Given the description of an element on the screen output the (x, y) to click on. 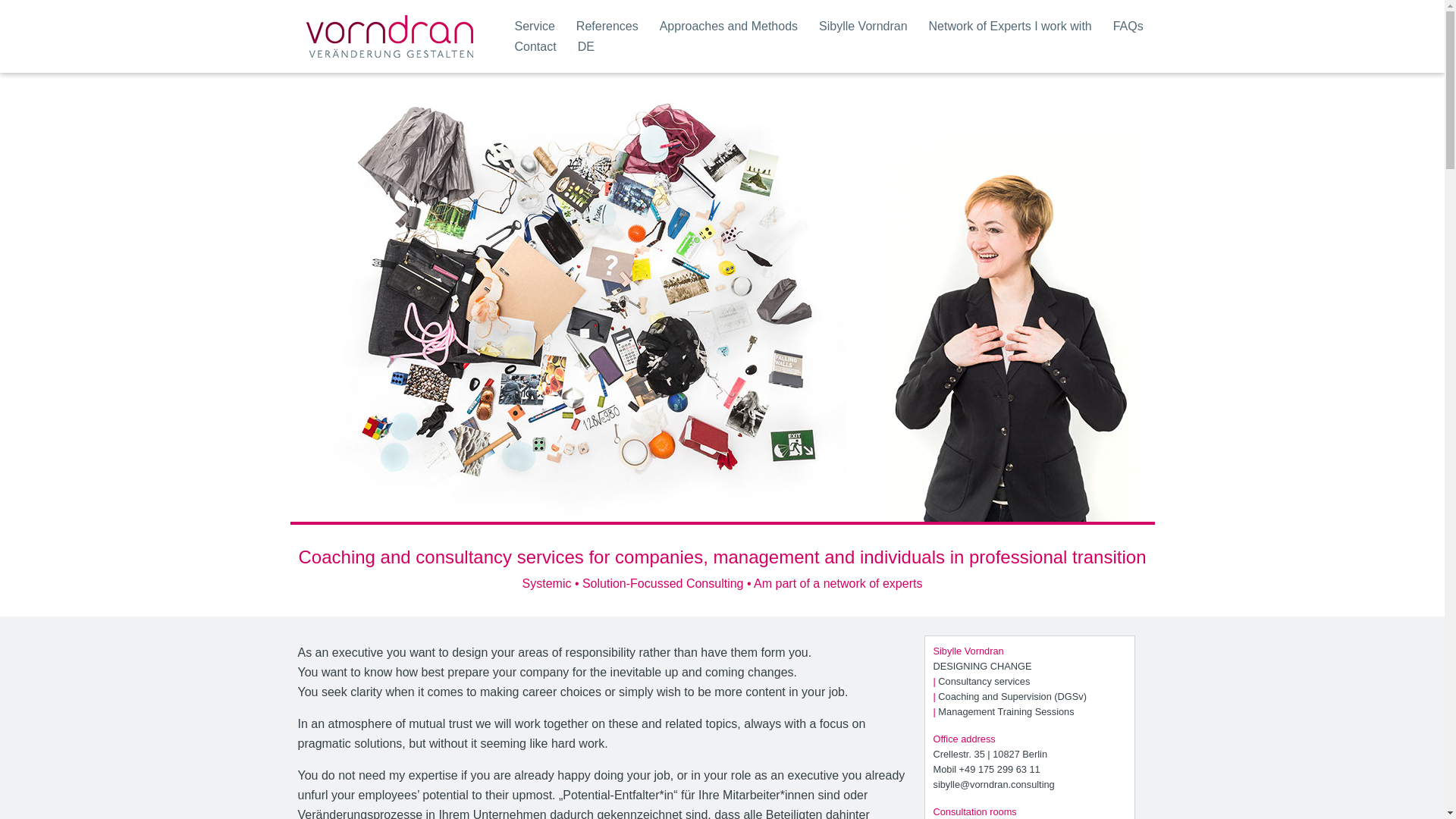
References (607, 25)
Zum Inhalt springen (11, 31)
Network of Experts I work with (1010, 25)
Sibylle Vorndran (862, 25)
Service (533, 25)
FAQs (1127, 25)
Contact (534, 46)
Approaches and Methods (728, 25)
